Given the description of an element on the screen output the (x, y) to click on. 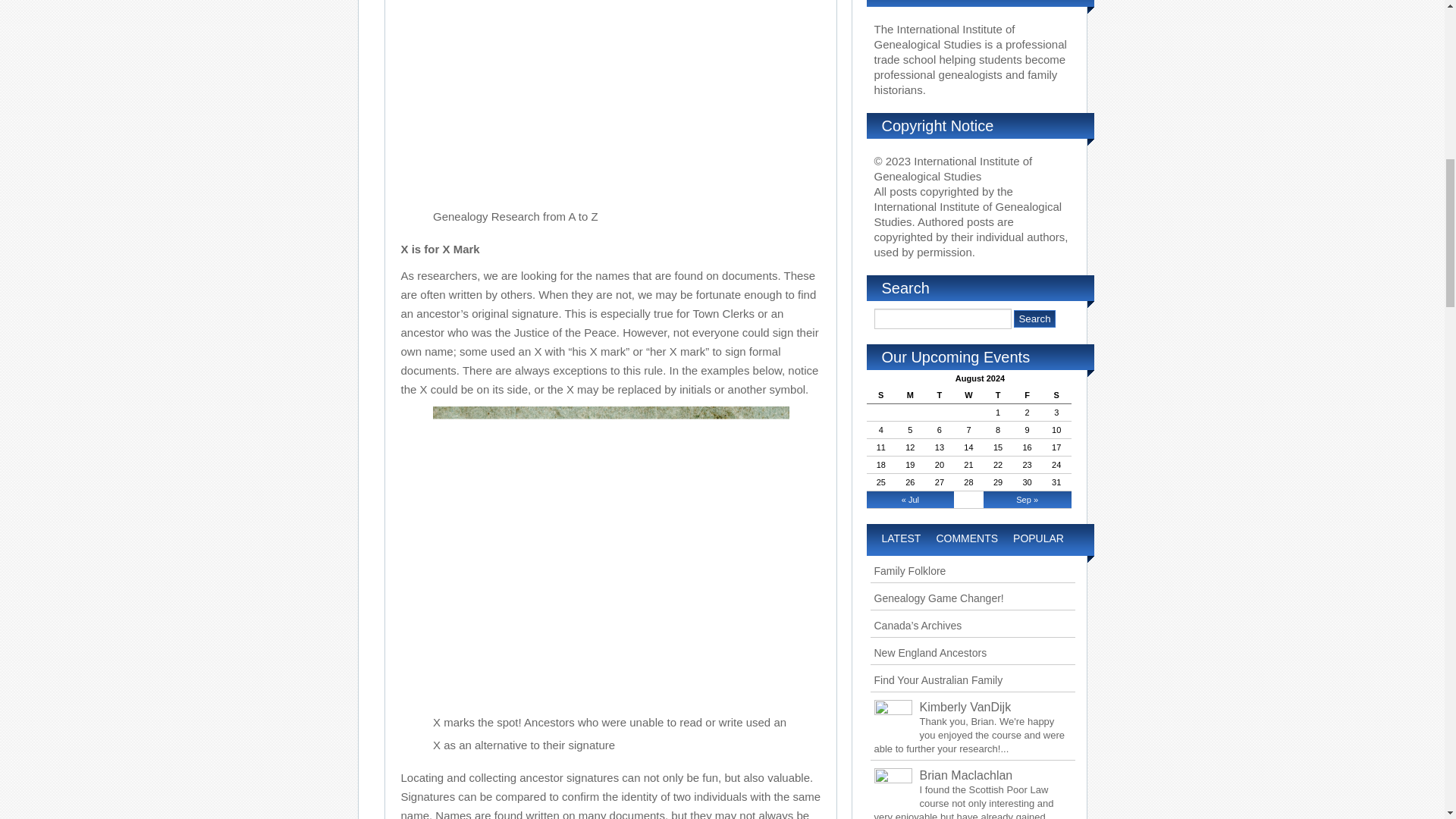
Friday (1026, 395)
Wednesday (968, 395)
Search (1033, 318)
Thursday (998, 395)
Previous month (909, 499)
Sunday (880, 395)
Saturday (1056, 395)
Family Folklore (908, 571)
Genealogy Game Changer! (938, 598)
Tuesday (939, 395)
